Given the description of an element on the screen output the (x, y) to click on. 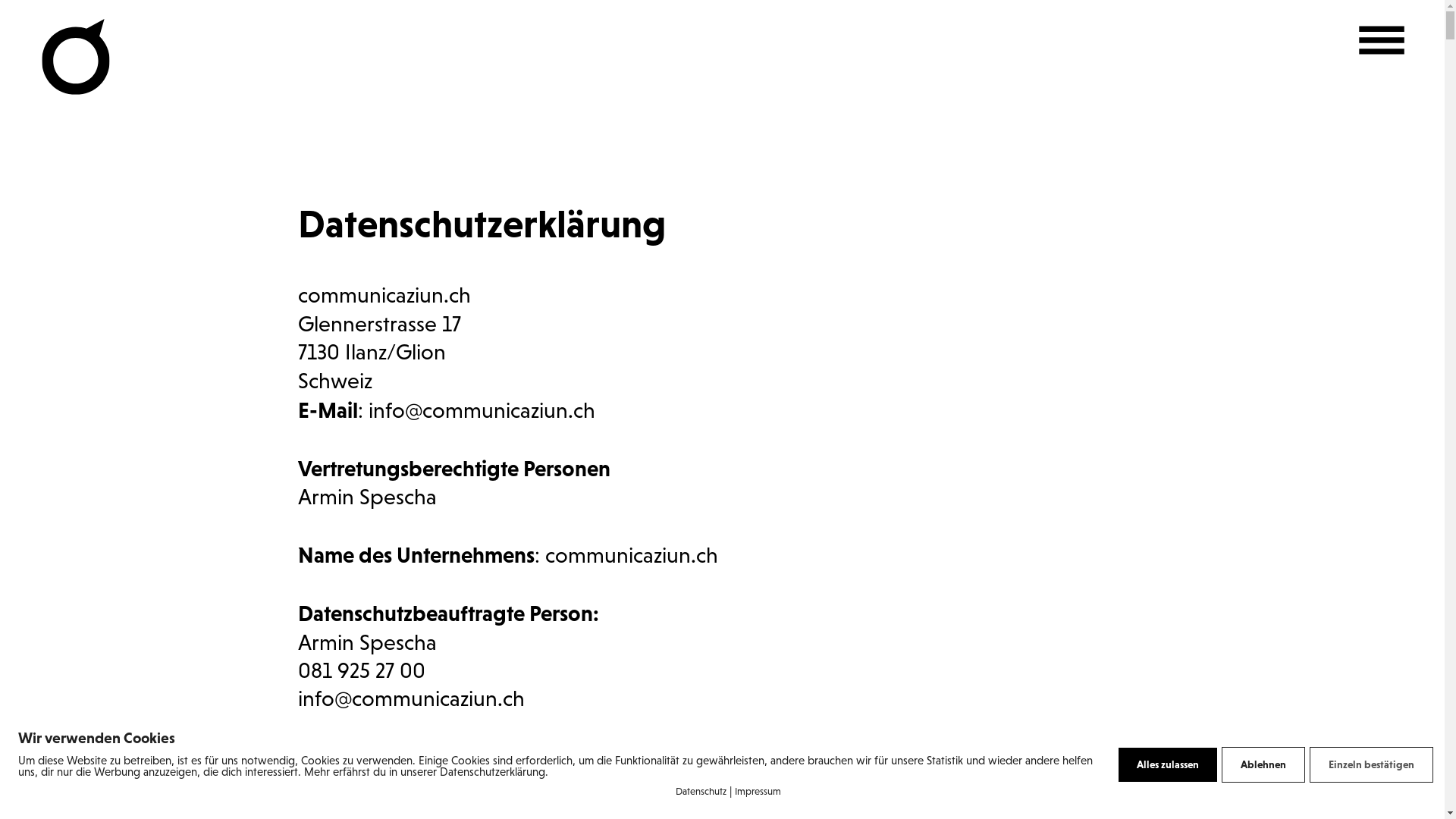
Alles zulassen Element type: text (1167, 764)
Datenschutz Element type: text (699, 792)
Impressum Element type: text (757, 792)
Ablehnen Element type: text (1263, 764)
